Given the description of an element on the screen output the (x, y) to click on. 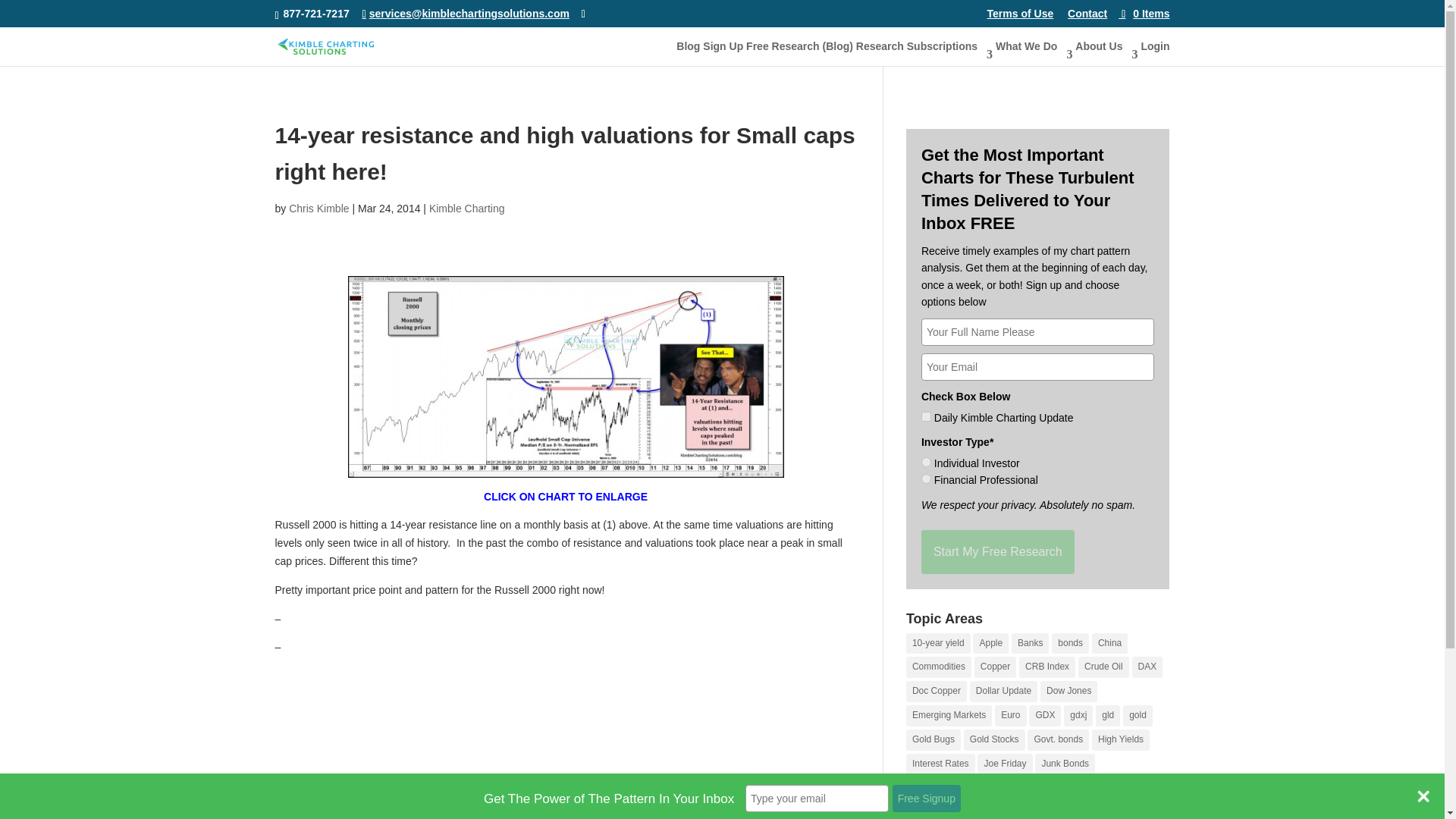
What We Do (1033, 52)
0 Items (1143, 13)
Research Subscriptions (924, 52)
Individual Investor (926, 461)
Terms of Use (1020, 16)
russell14yearresistancevaluationshighmar24 (565, 376)
Posts by Chris Kimble (318, 208)
Login (1154, 52)
Blog Sign Up (709, 52)
Financial Professional (926, 479)
Daily Kimble Charting Update (926, 416)
Contact (1086, 16)
About Us (1106, 52)
